Given the description of an element on the screen output the (x, y) to click on. 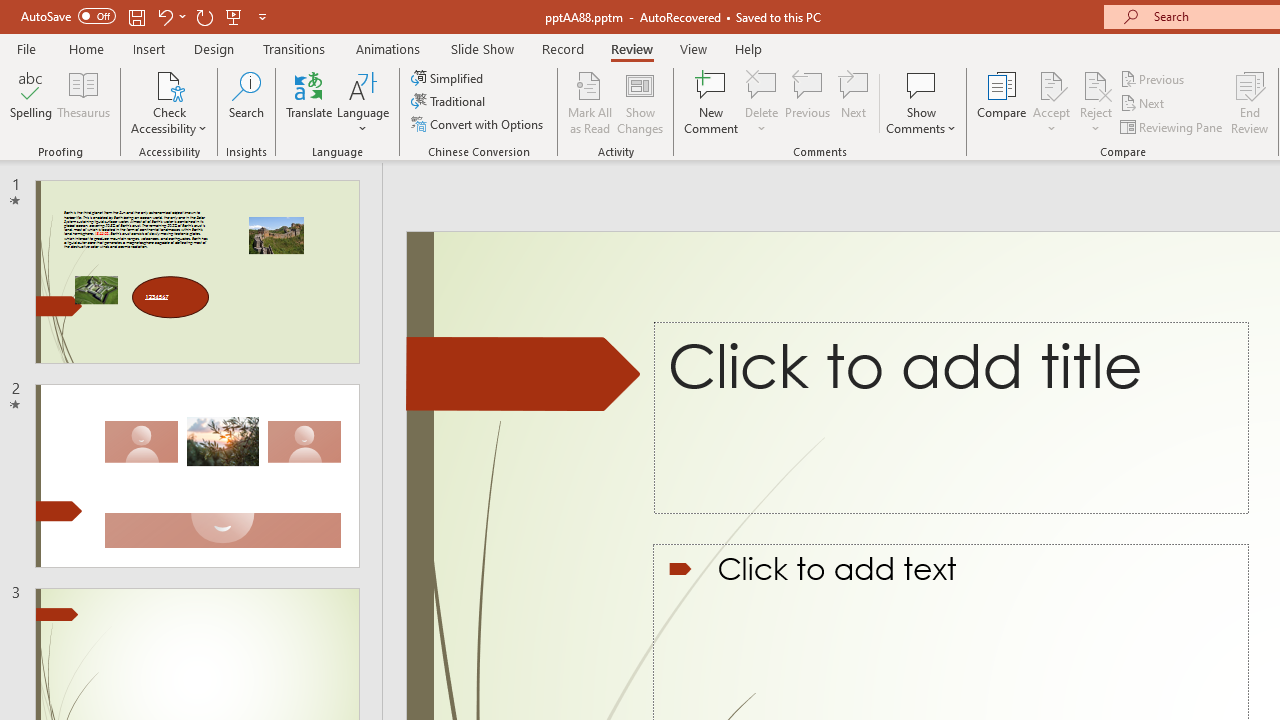
Reject Change (1096, 84)
Translate (309, 102)
Reject (1096, 102)
Delete (762, 84)
Show Changes (639, 102)
Delete (762, 102)
Compare (1002, 102)
Slide (196, 476)
Mark All as Read (589, 102)
